Given the description of an element on the screen output the (x, y) to click on. 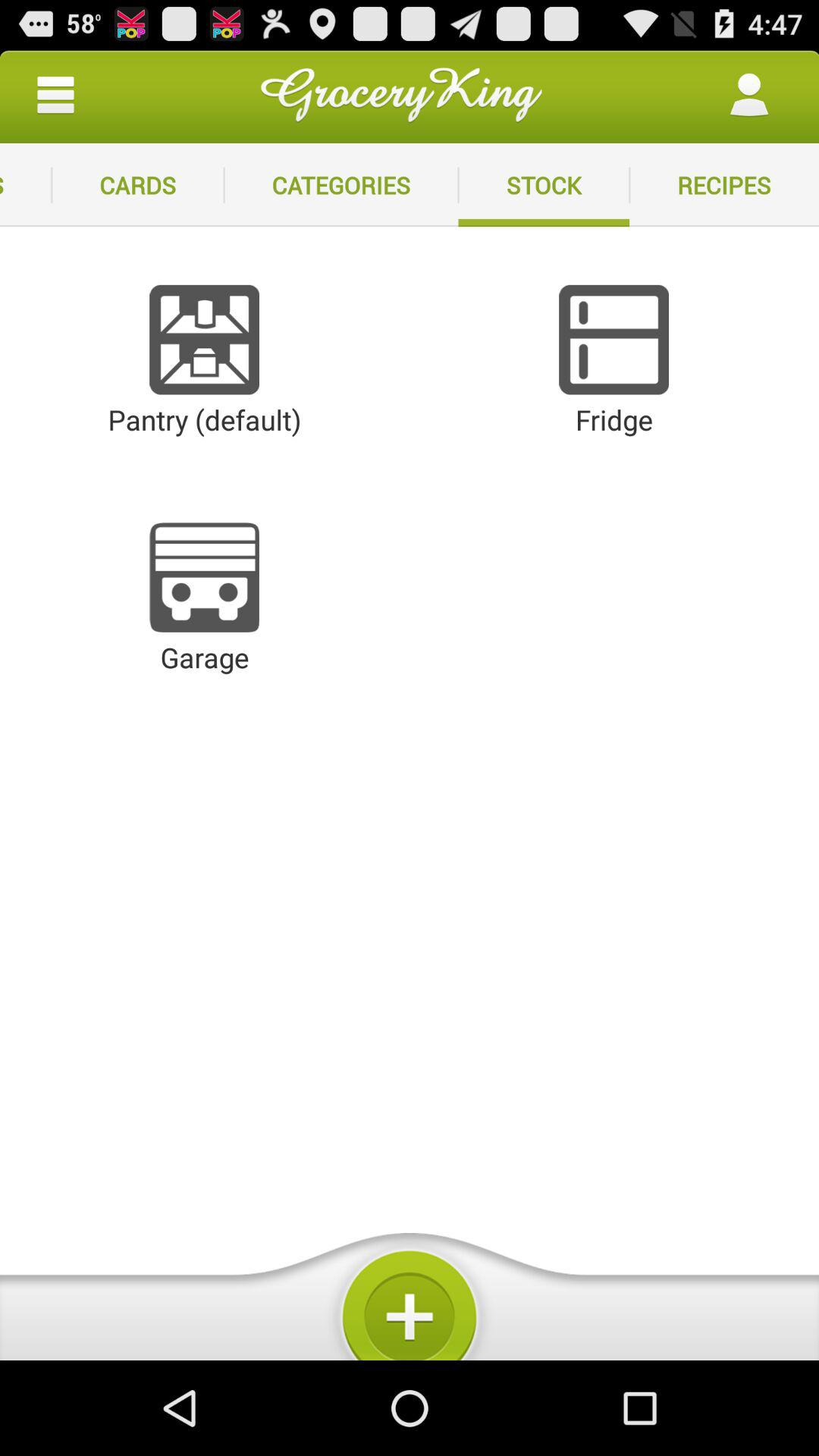
flip until categories icon (341, 184)
